Given the description of an element on the screen output the (x, y) to click on. 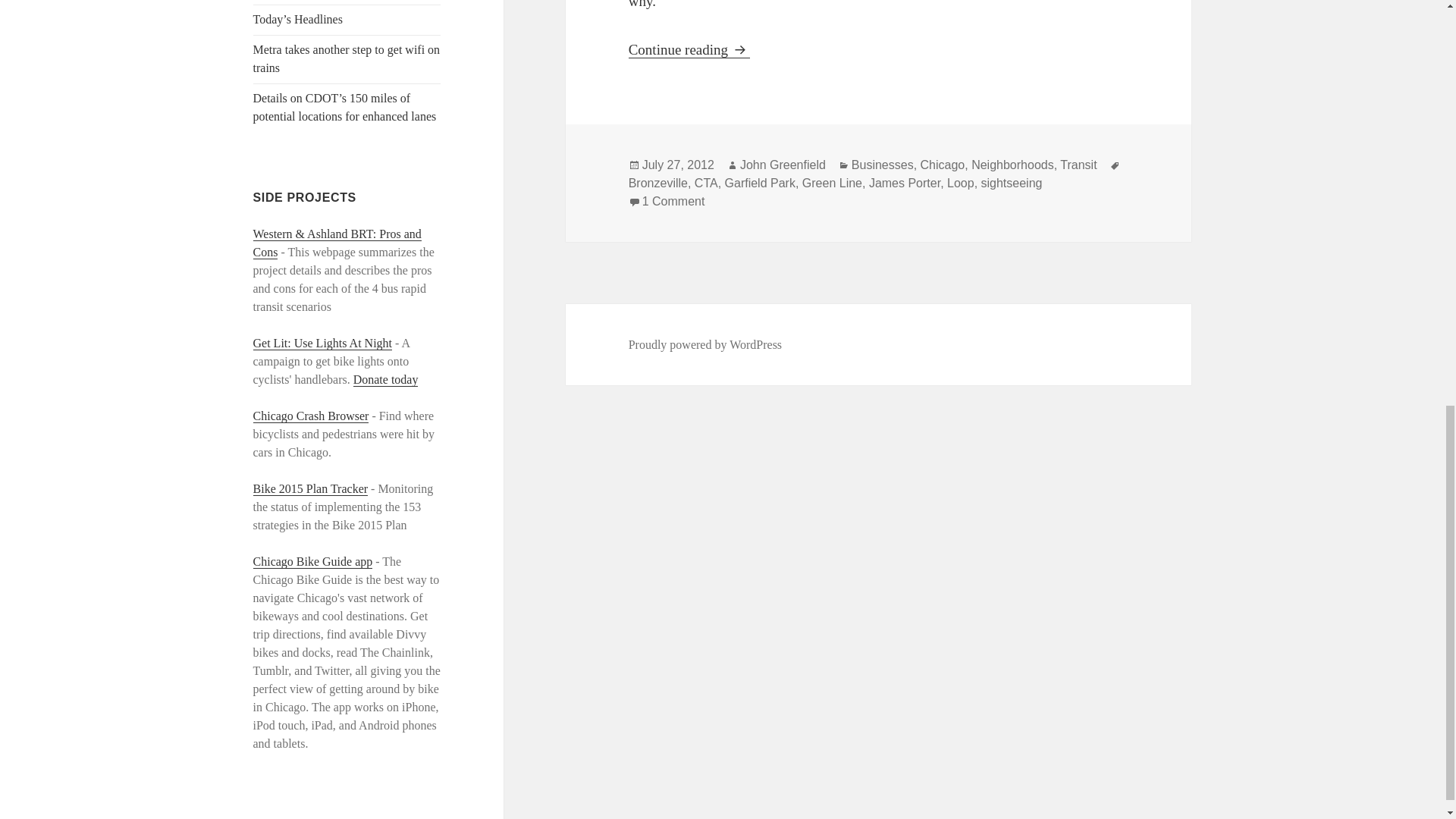
Garfield Park (759, 182)
CTA (705, 182)
Green Line (831, 182)
Neighborhoods (1012, 164)
Metra takes another step to get wifi on trains (347, 58)
Bike 2015 Plan Tracker (310, 489)
Chicago Crash Browser (311, 416)
sightseeing (1011, 182)
Chicago (942, 164)
Loop (960, 182)
